Given the description of an element on the screen output the (x, y) to click on. 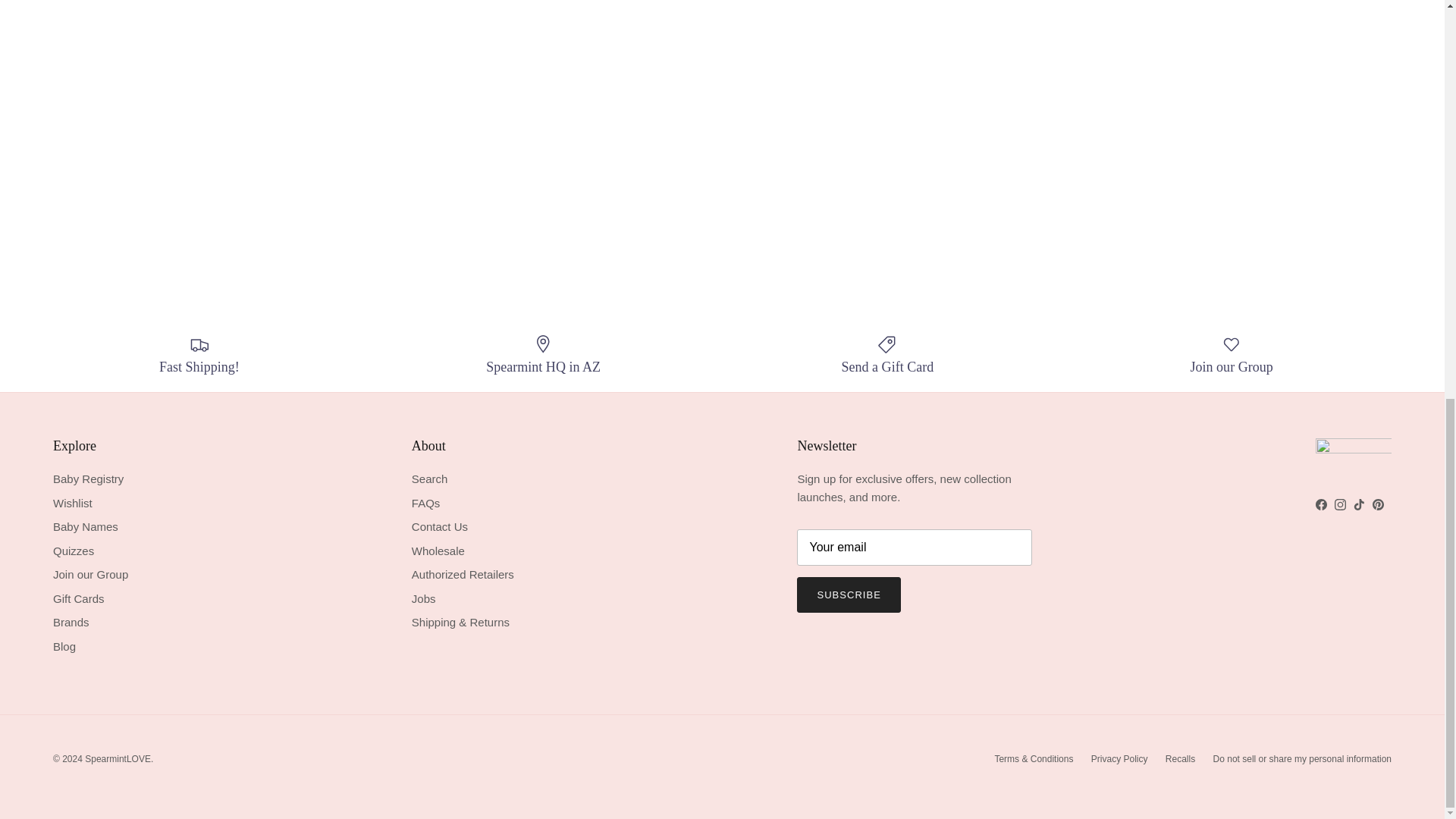
SpearmintLOVE on Pinterest (1378, 504)
SpearmintLOVE on TikTok (1359, 504)
SpearmintLOVE on Instagram (1340, 504)
SpearmintLOVE on Facebook (1321, 504)
